Given the description of an element on the screen output the (x, y) to click on. 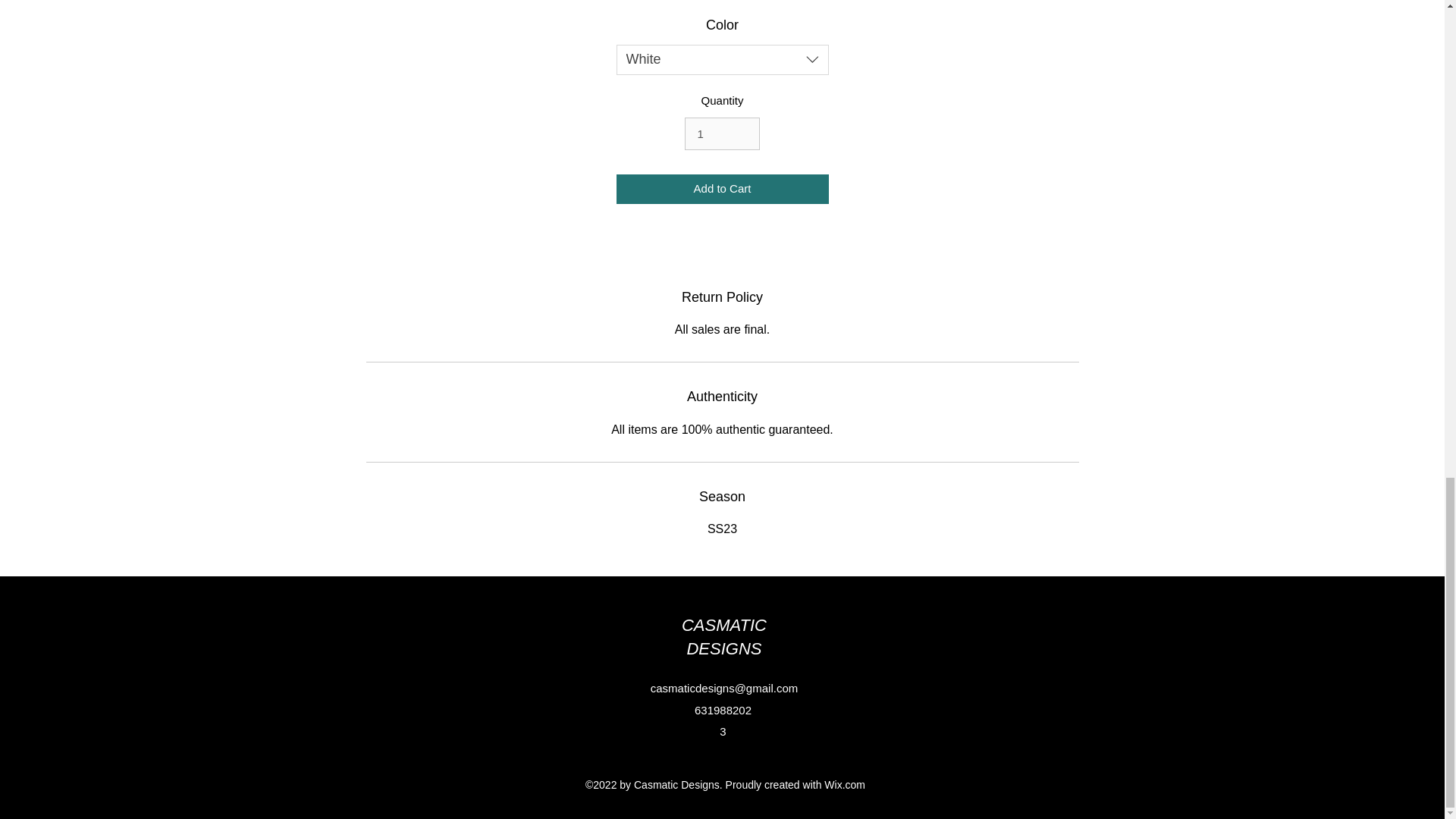
White (721, 60)
CASMATIC DESIGNS (724, 636)
Add to Cart (721, 188)
1 (721, 133)
